Given the description of an element on the screen output the (x, y) to click on. 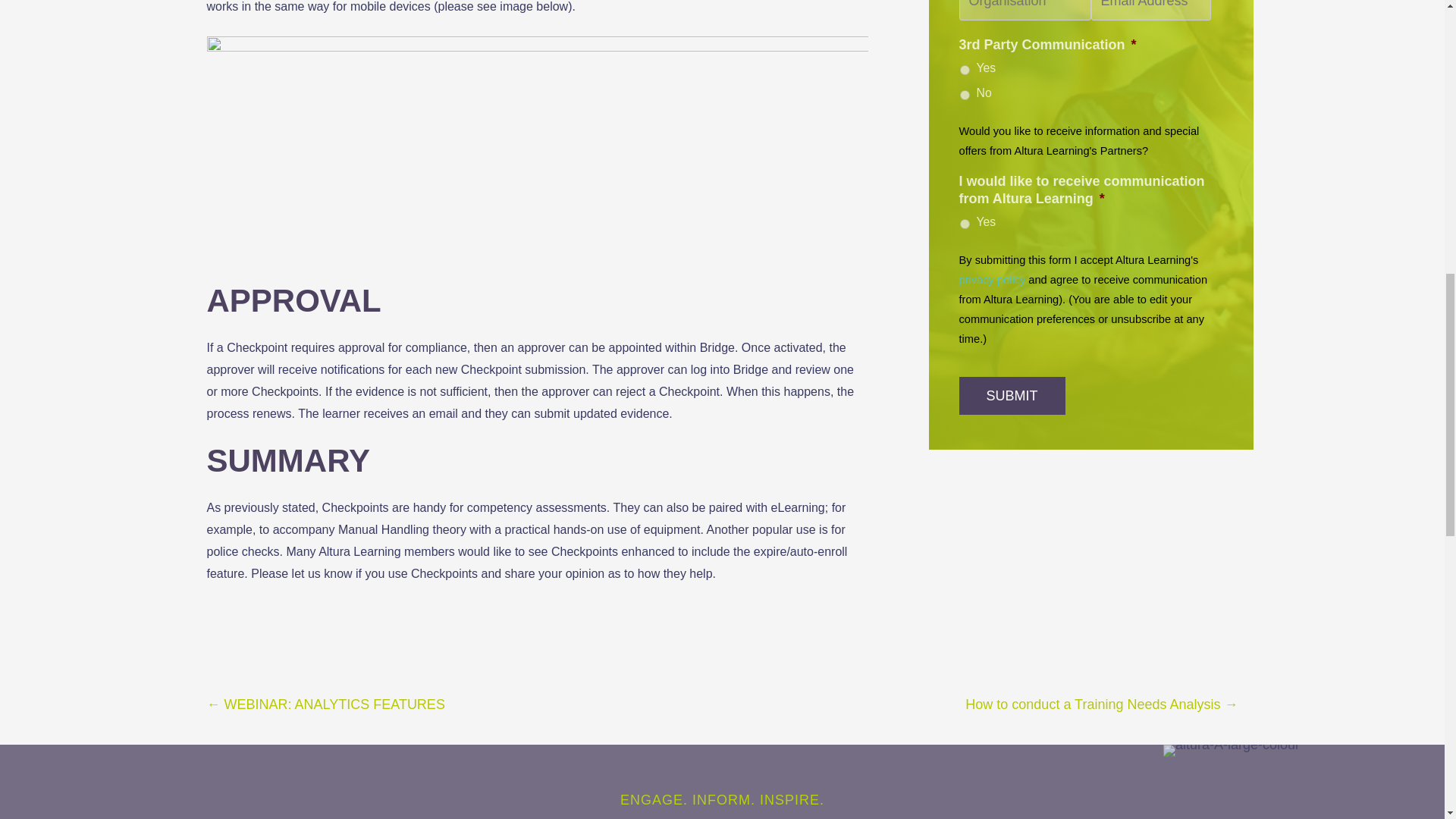
True (964, 70)
Submit (1011, 395)
False (964, 94)
Yes (964, 224)
altura-A-large-colour (1231, 750)
